Given the description of an element on the screen output the (x, y) to click on. 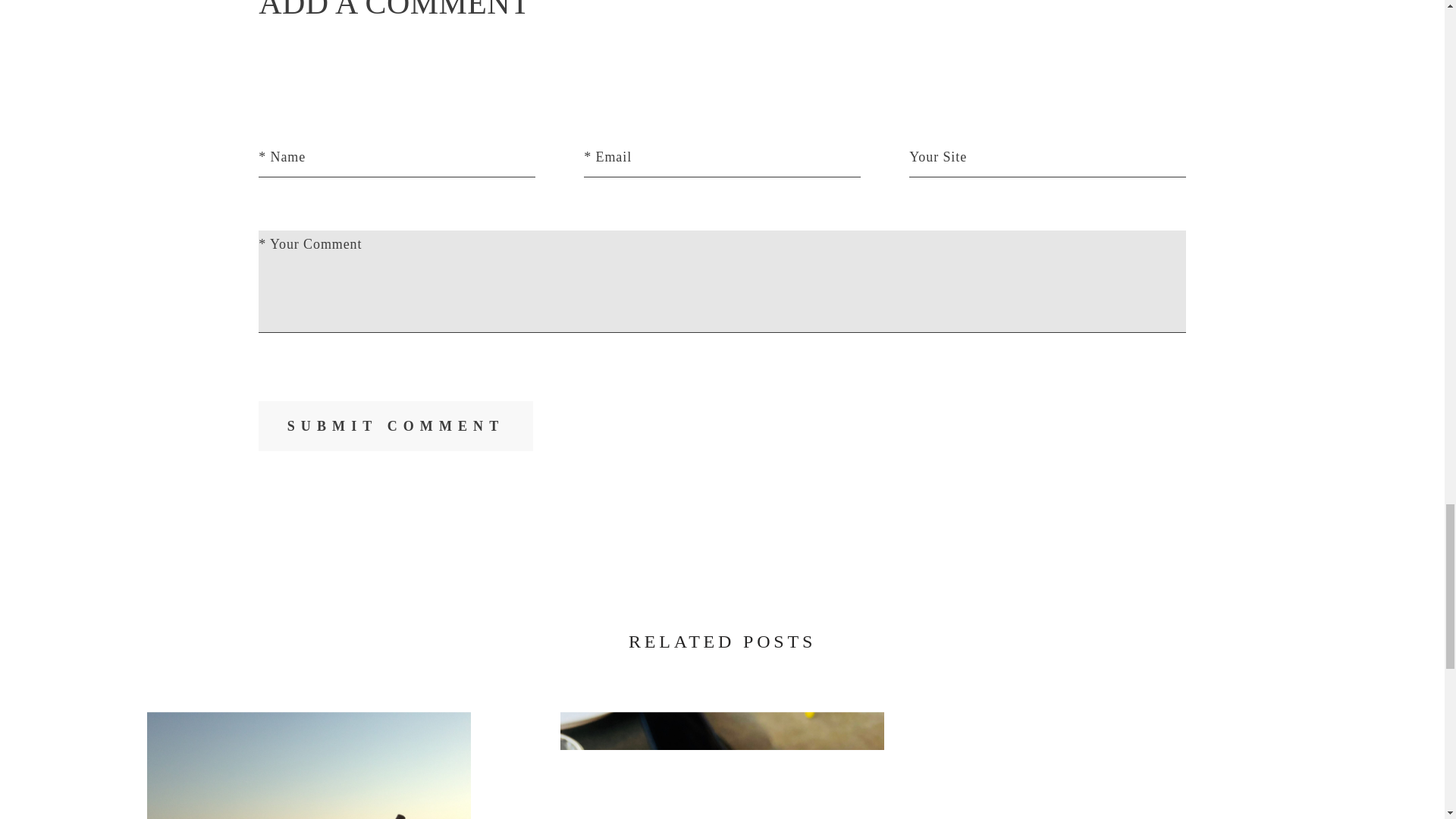
SUBMIT COMMENT (395, 426)
Roaming Around Rome and Milano (1136, 765)
Santorini: Sunsets and the Sea (309, 765)
My Los Angeles Food Guide (722, 765)
